Given the description of an element on the screen output the (x, y) to click on. 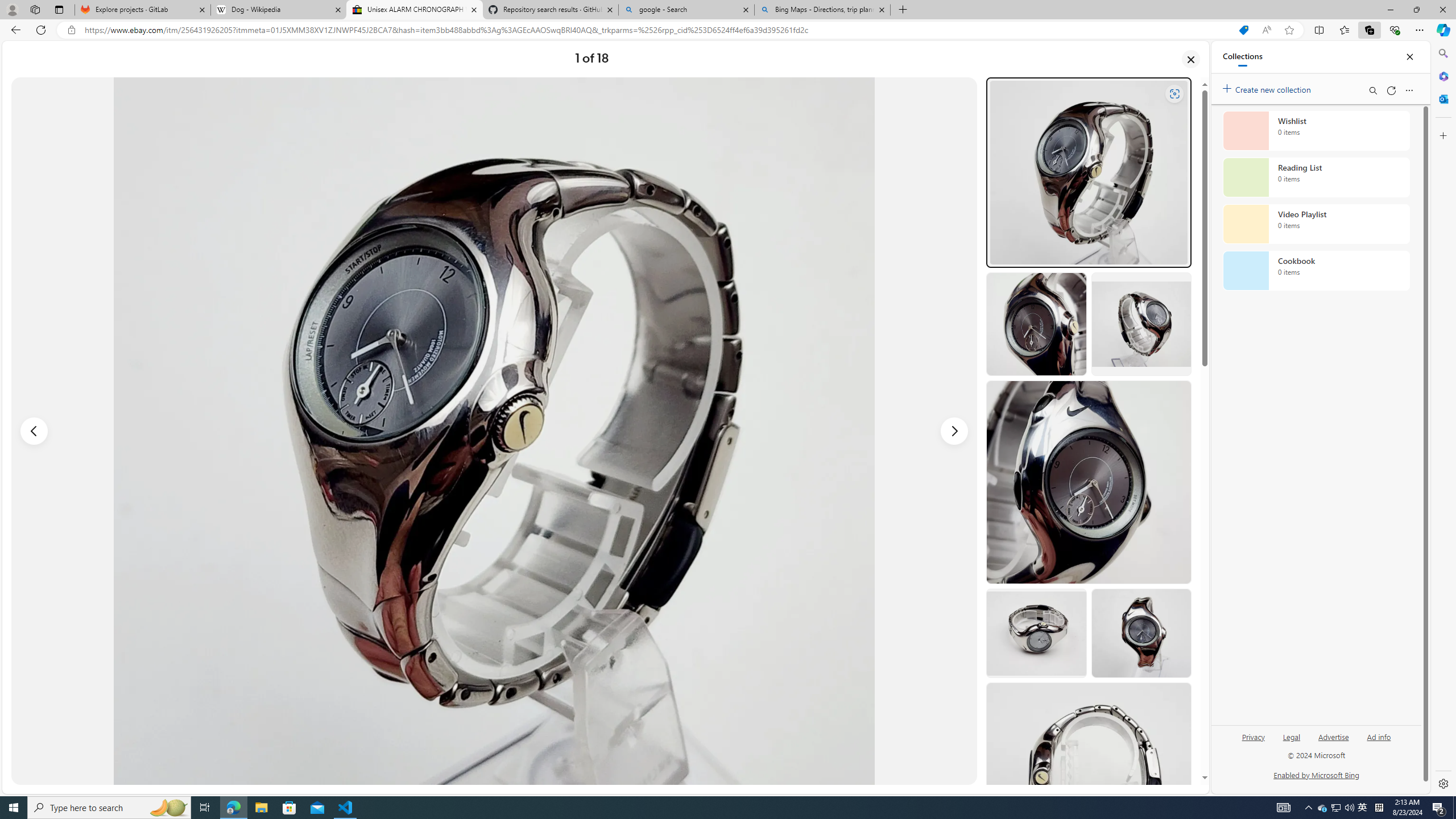
Dog - Wikipedia (277, 9)
Legal (1291, 736)
Video Playlist collection, 0 items (1316, 223)
Picture 1 of 18 (493, 430)
